Given the description of an element on the screen output the (x, y) to click on. 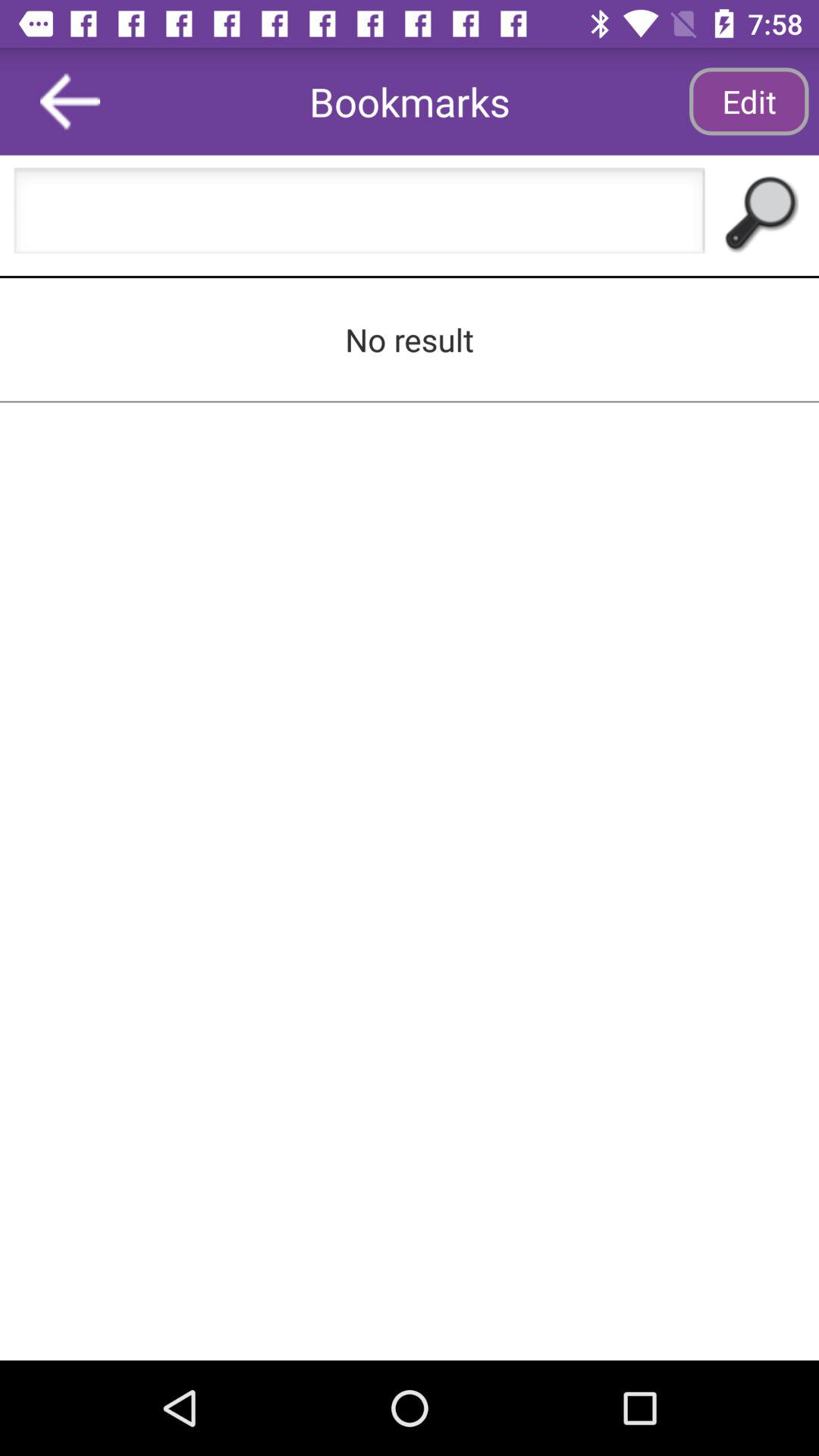
swipe to the no result (409, 339)
